Given the description of an element on the screen output the (x, y) to click on. 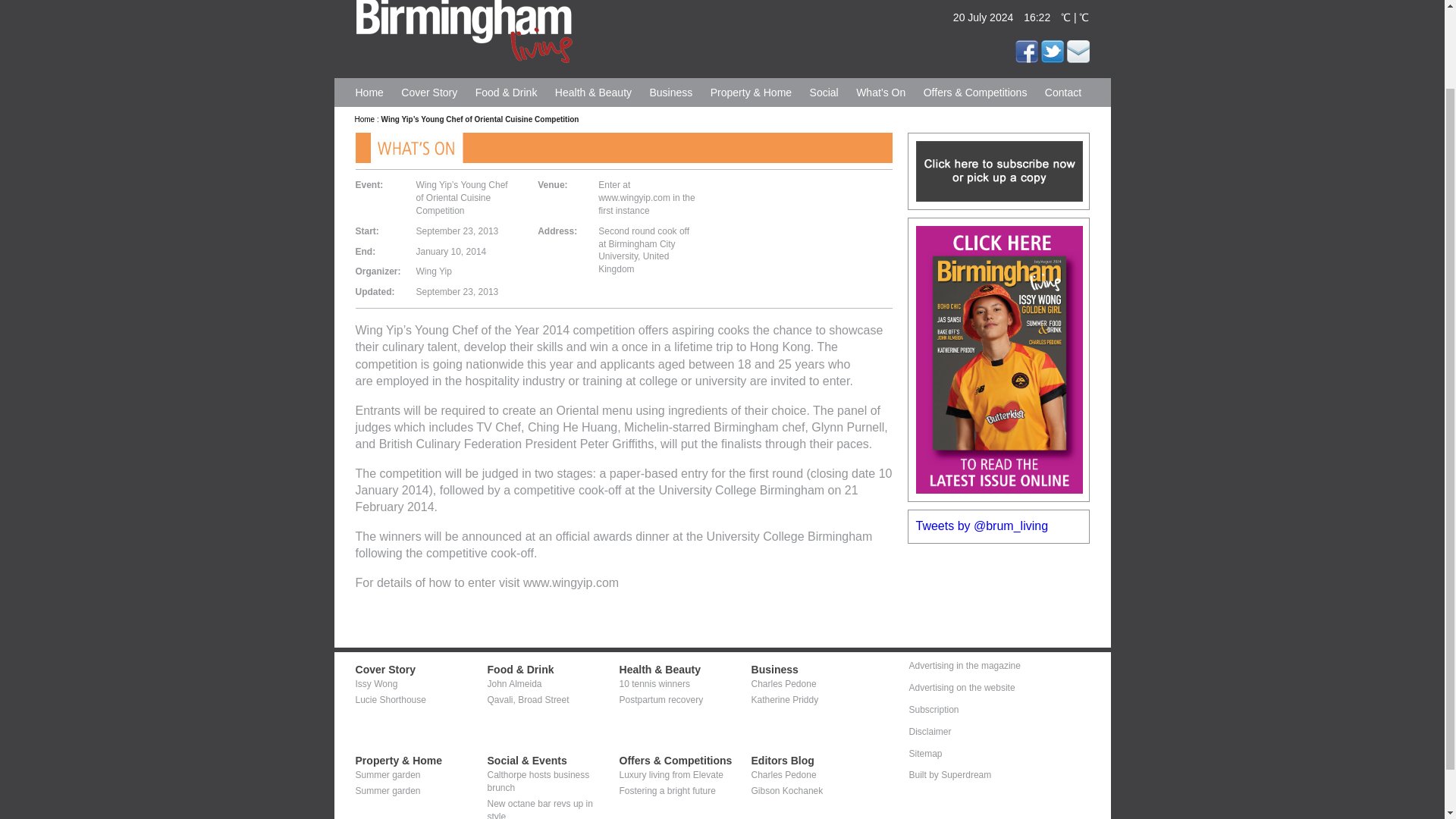
Permanent link to Calthorpe hosts business brunch (537, 781)
Permanent link to Katherine Priddy (784, 699)
Cover Story (384, 669)
Business (774, 669)
Summer garden (387, 774)
Permanent link to Lucie Shorthouse (390, 699)
Postpartum recovery (660, 699)
Home (365, 119)
Business (671, 92)
Social (823, 92)
Contact (1063, 92)
10 tennis winners (653, 683)
Permanent link to Luxury living from Elevate (670, 774)
Birmingham Living (463, 31)
Permanent link to Fostering a bright future (666, 790)
